Given the description of an element on the screen output the (x, y) to click on. 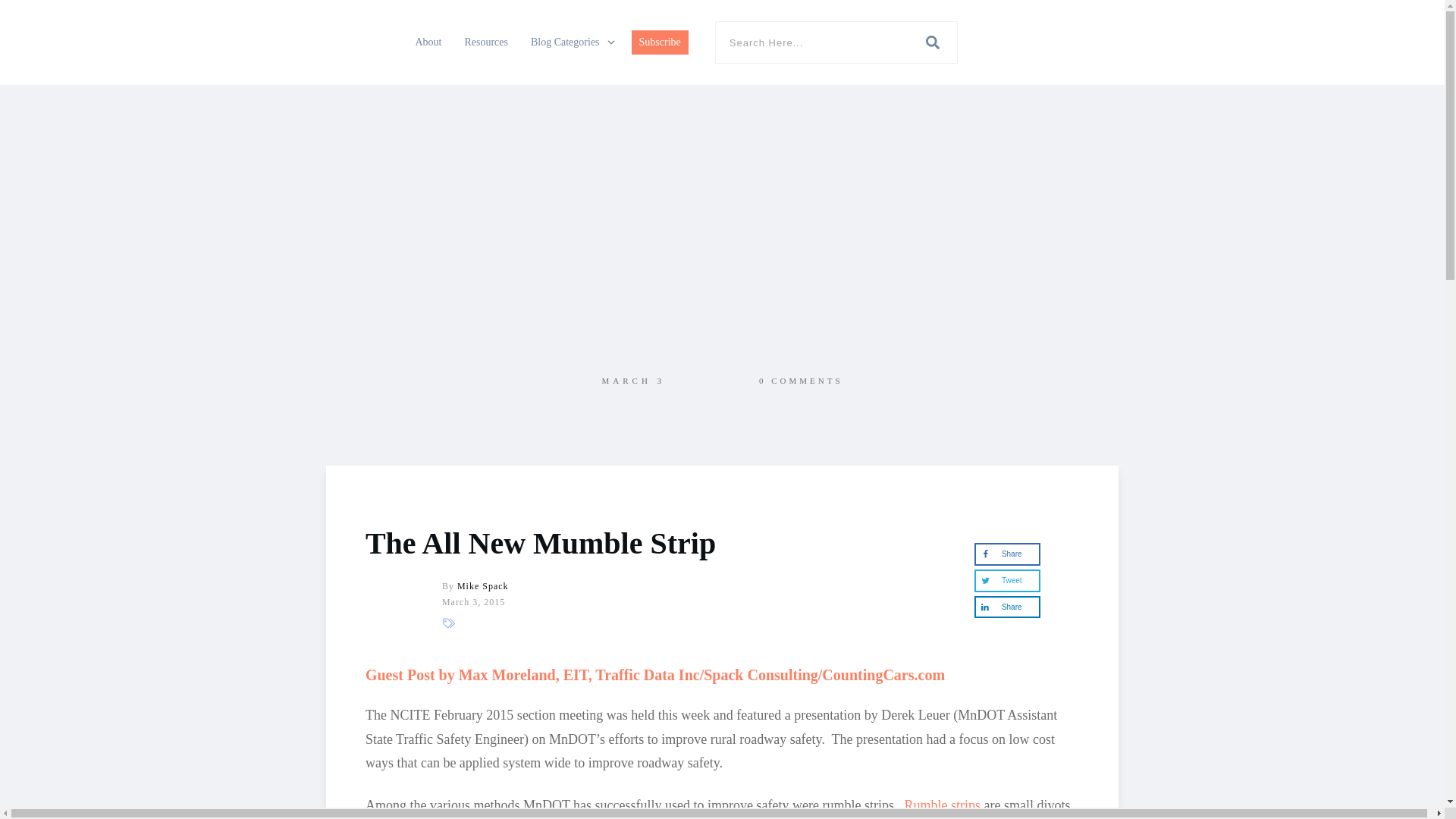
Resources (486, 42)
Subscribe (660, 42)
Share (1006, 554)
The All New Mumble Strip (540, 543)
About (427, 42)
Tweet (1006, 580)
Share (1006, 607)
Blog Categories (573, 42)
The All New Mumble Strip (540, 543)
Rumble strips (944, 805)
